Given the description of an element on the screen output the (x, y) to click on. 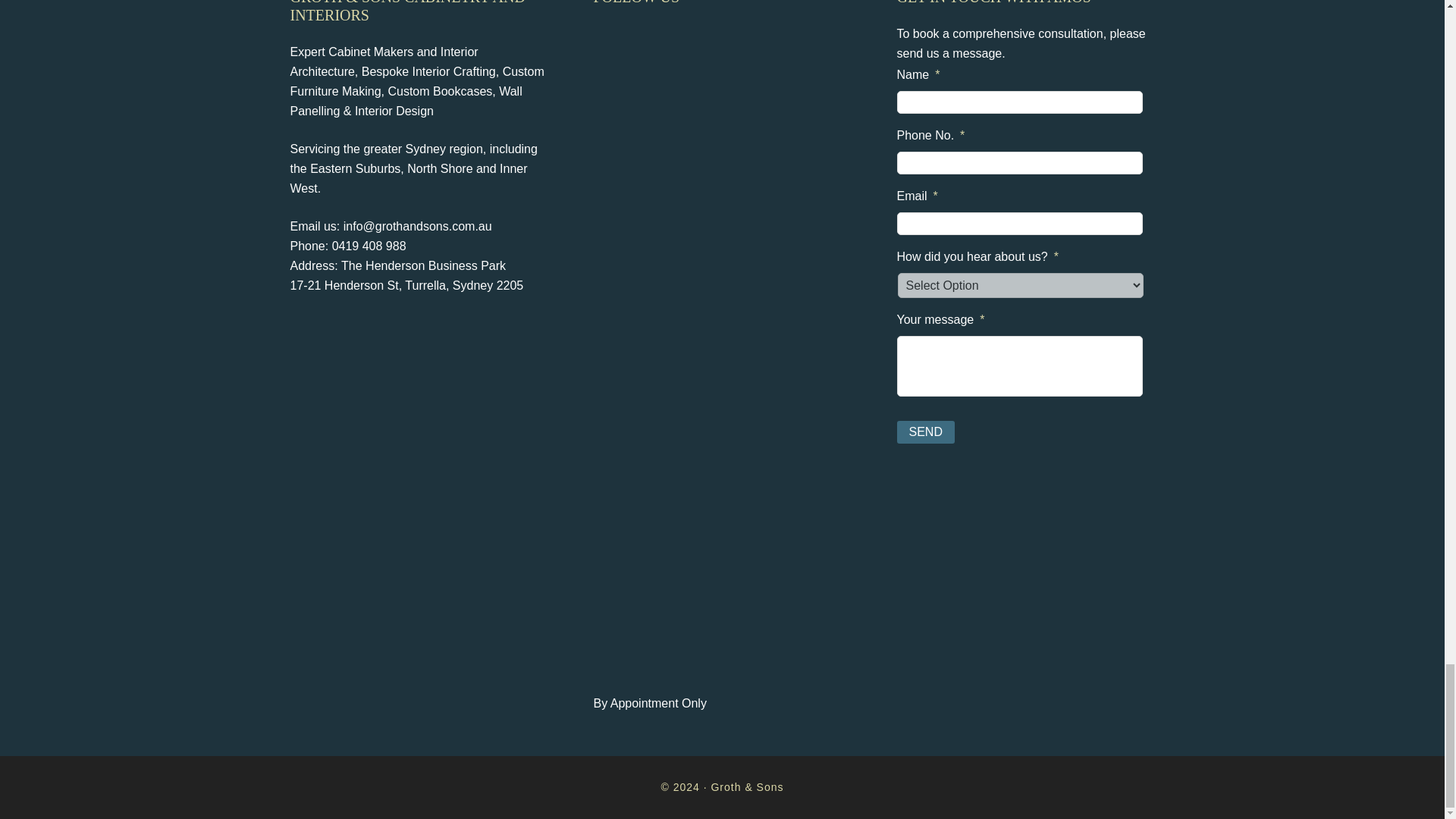
Send (924, 431)
